Given the description of an element on the screen output the (x, y) to click on. 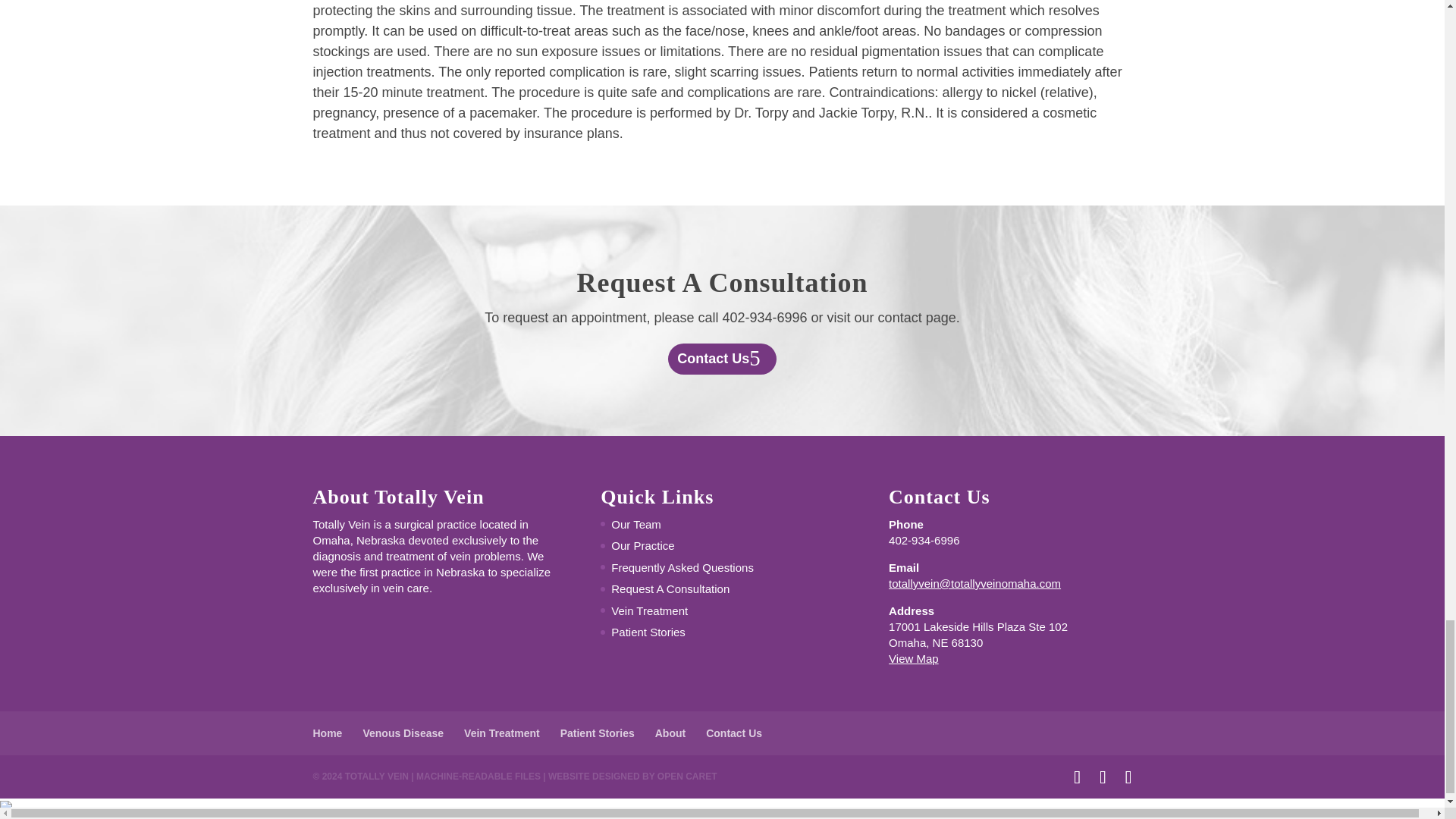
Our Practice (642, 545)
Our Team (636, 523)
Request A Consultation (670, 588)
Frequently Asked Questions (682, 567)
Vein Treatment (649, 610)
Contact Us (722, 358)
